Given the description of an element on the screen output the (x, y) to click on. 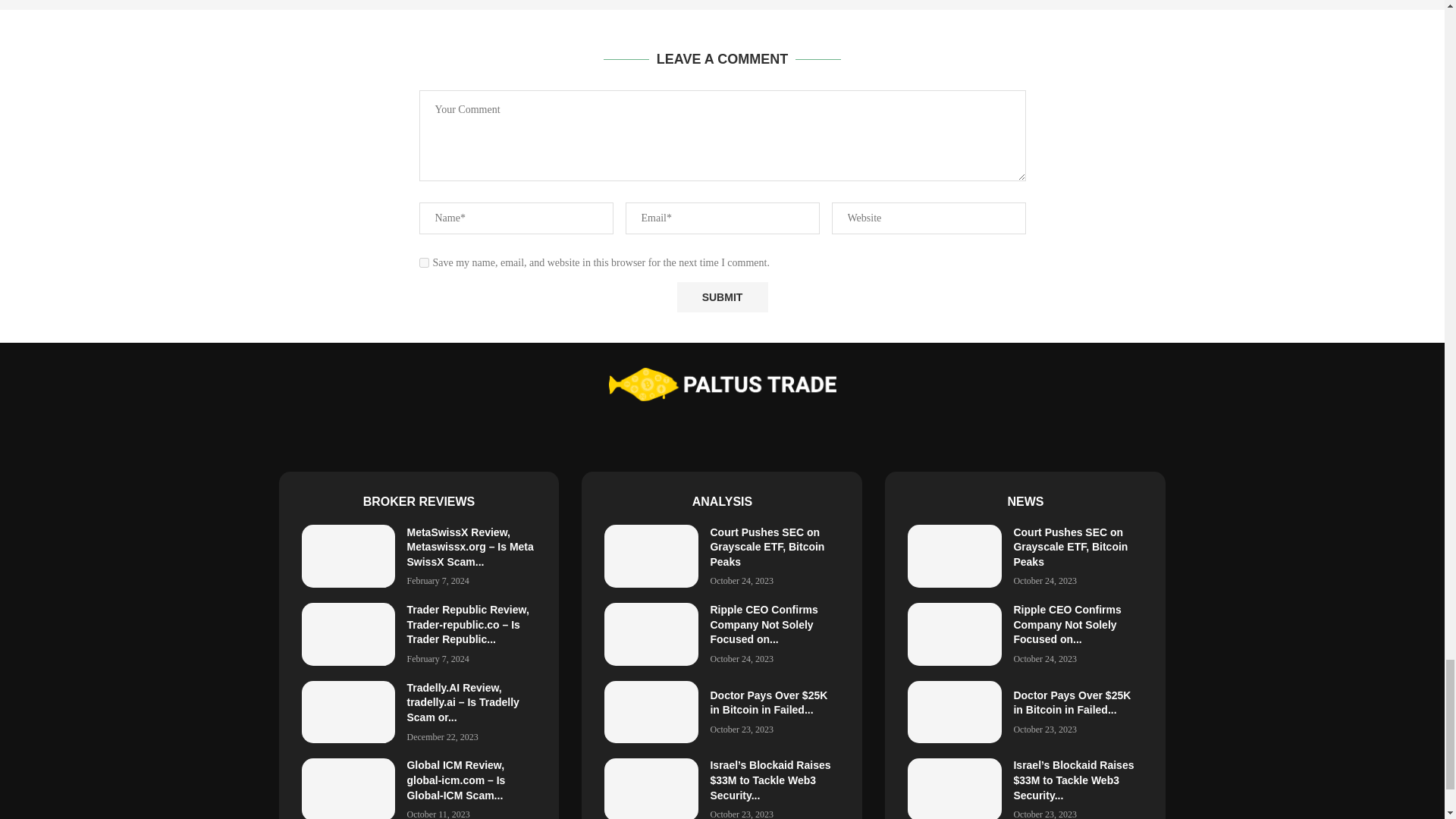
Submit (722, 296)
yes (423, 262)
